Given the description of an element on the screen output the (x, y) to click on. 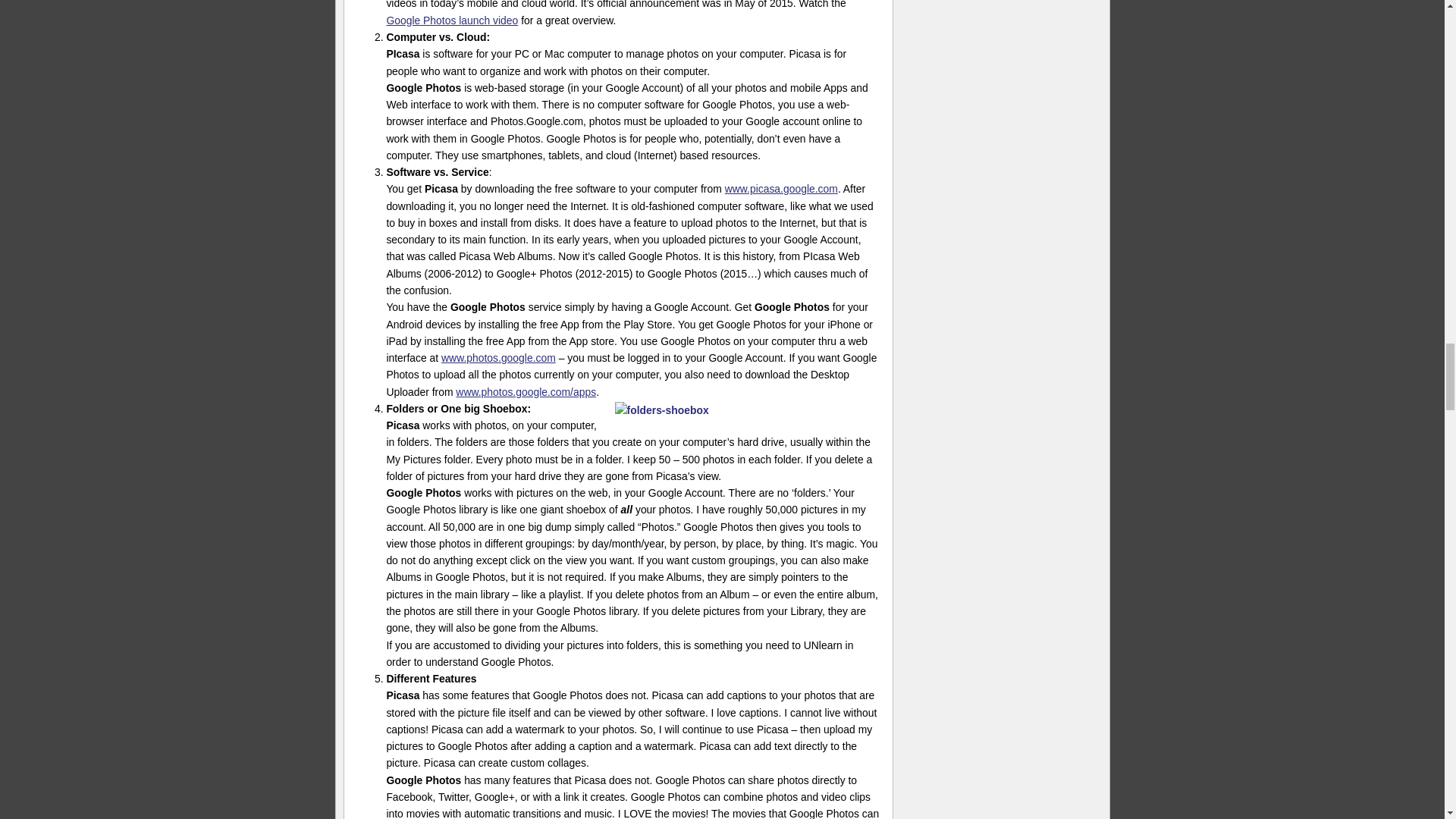
folders-shoebox (747, 410)
